Given the description of an element on the screen output the (x, y) to click on. 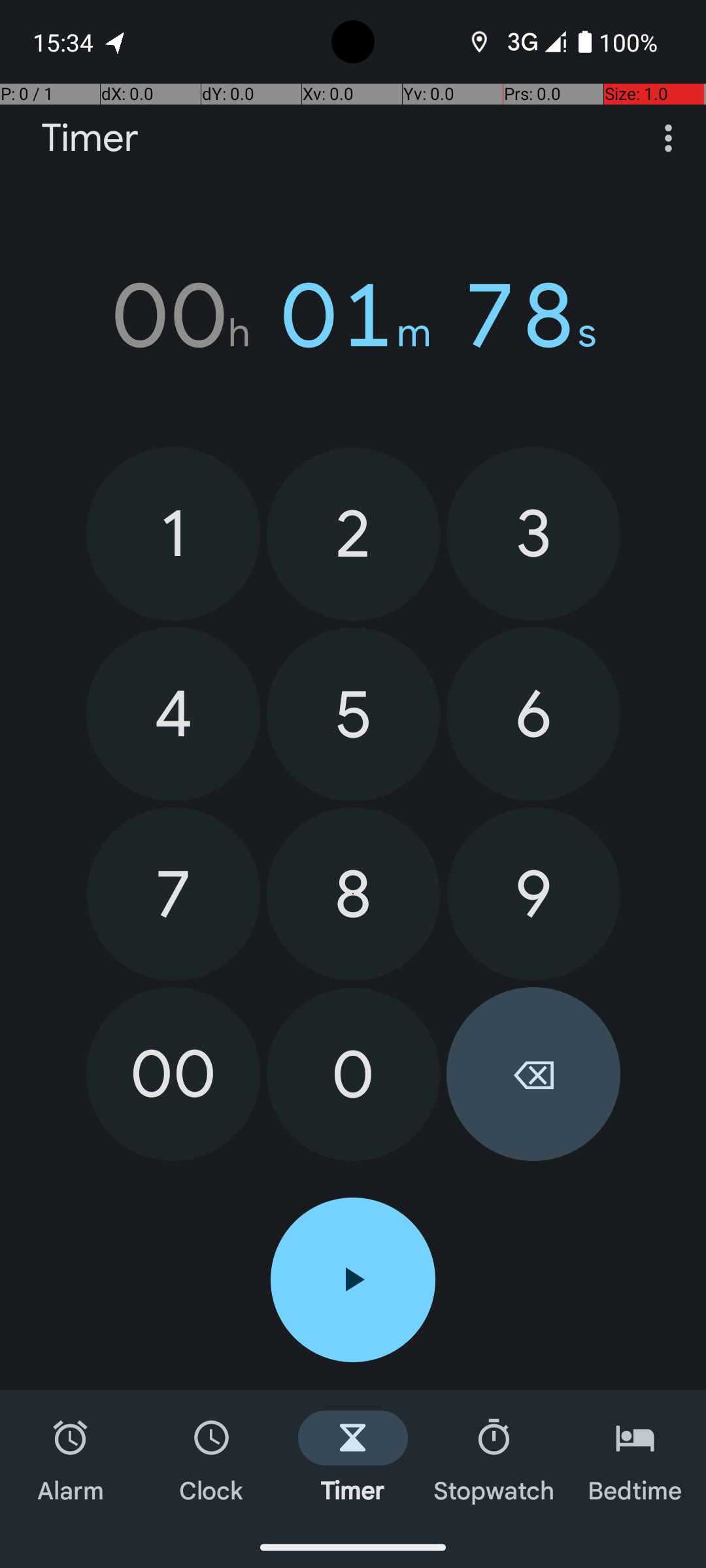
00h 01m 78s Element type: android.widget.TextView (353, 315)
